Given the description of an element on the screen output the (x, y) to click on. 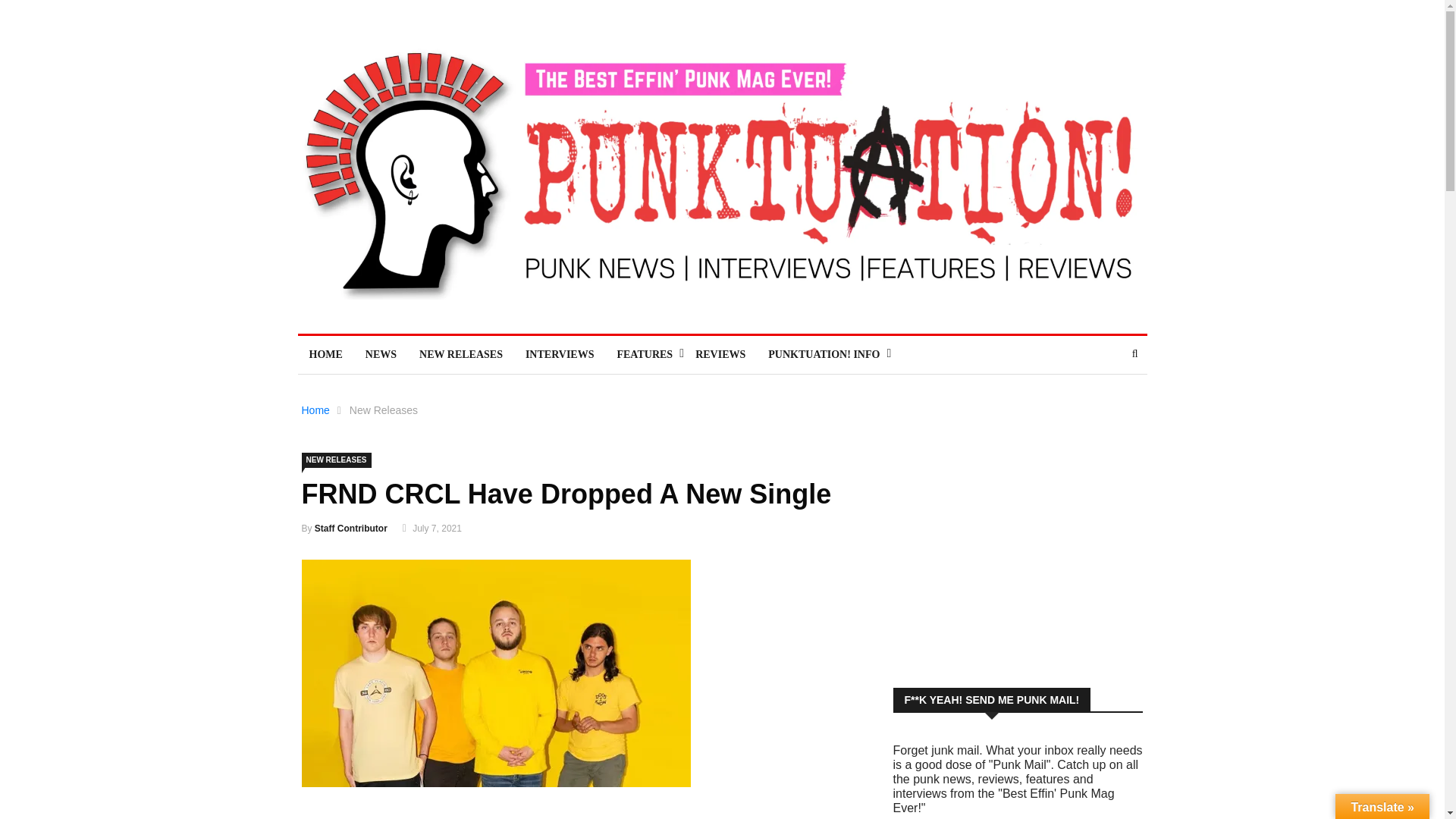
PUNKTUATION! INFO (824, 354)
Advertisement (1017, 553)
HOME (325, 354)
FEATURES (644, 354)
New Releases (383, 410)
NEWS (380, 354)
NEW RELEASES (460, 354)
REVIEWS (720, 354)
Staff Contributor (350, 528)
Home (315, 410)
INTERVIEWS (559, 354)
NEW RELEASES (336, 459)
